Given the description of an element on the screen output the (x, y) to click on. 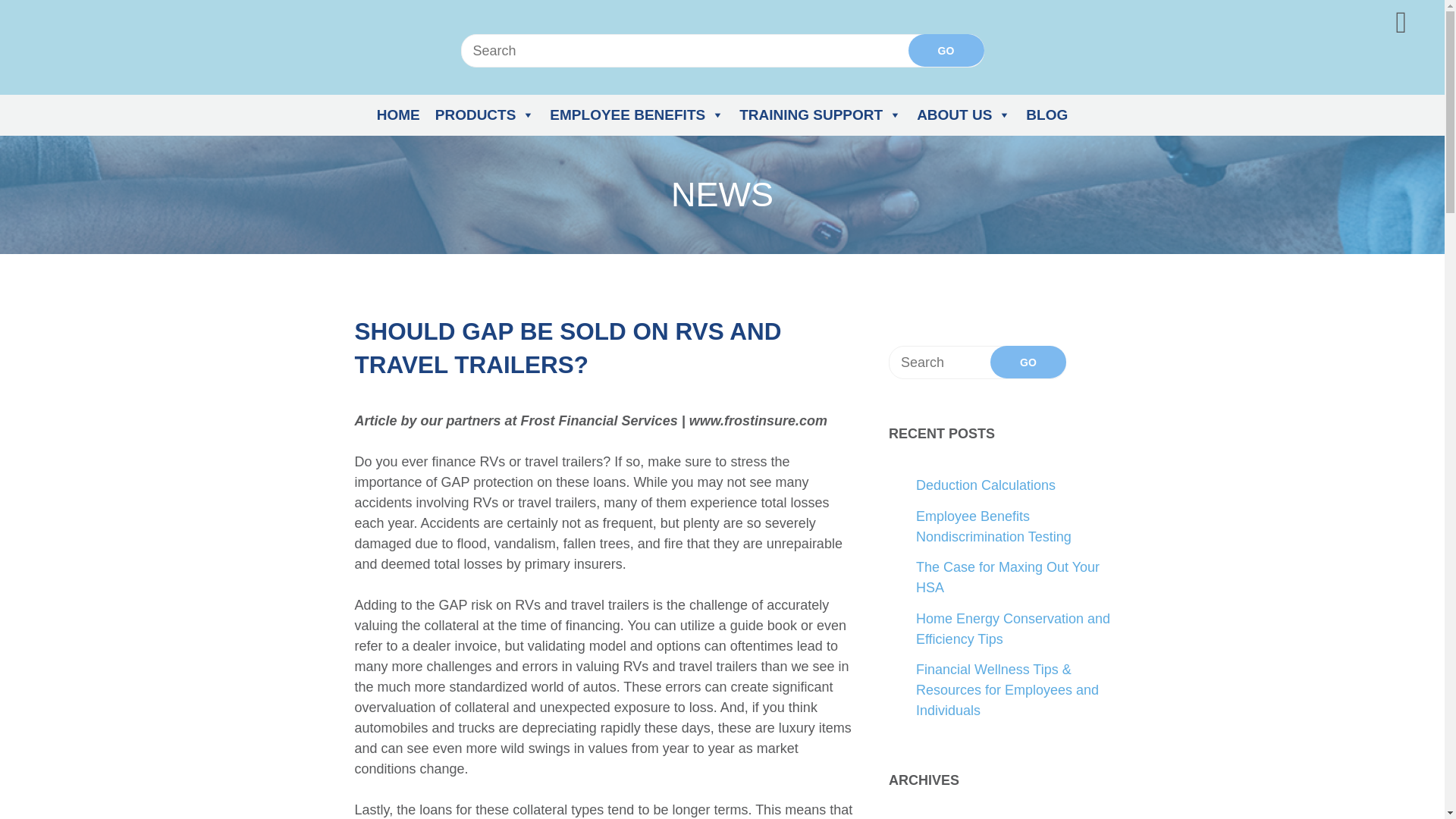
GO (1027, 361)
HOME (398, 114)
GO (946, 50)
207 773 0925 (937, 37)
GO (946, 50)
TRAINING SUPPORT (820, 114)
PRODUCTS (485, 114)
EMPLOYEE BENEFITS (636, 114)
CONTACT US (1042, 37)
